Given the description of an element on the screen output the (x, y) to click on. 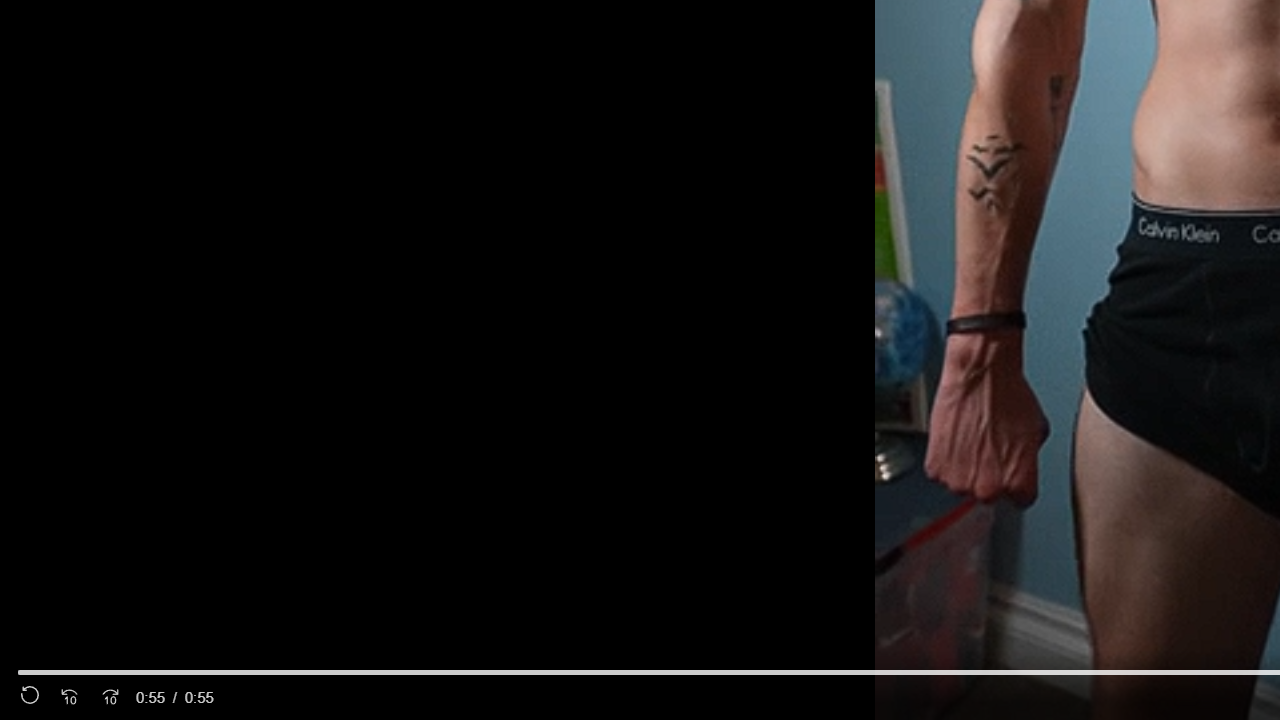
Seek Forward (109, 697)
Replay (29, 697)
Seek Back (69, 697)
